Given the description of an element on the screen output the (x, y) to click on. 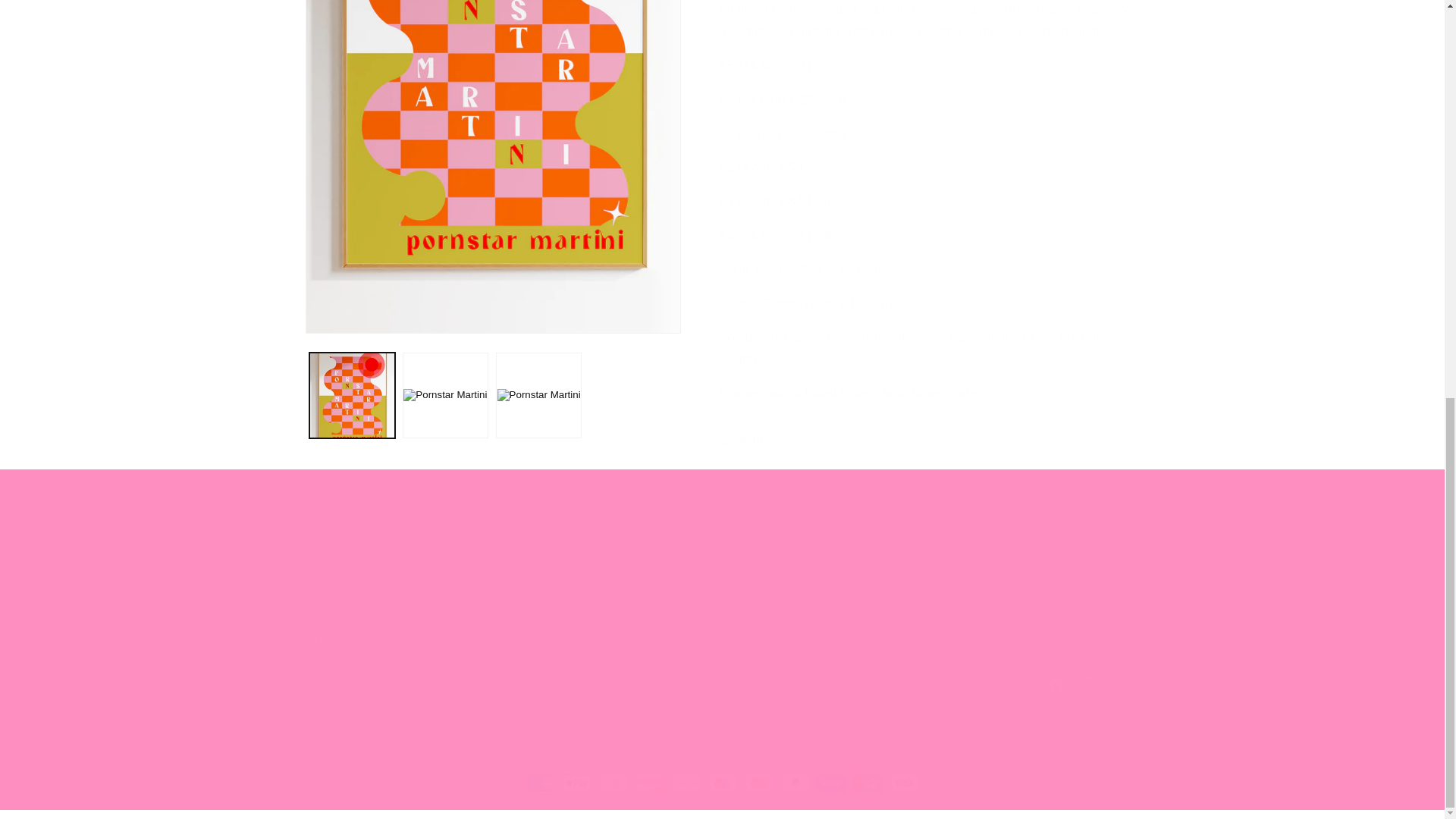
Open media 1 in modal (721, 667)
